Given the description of an element on the screen output the (x, y) to click on. 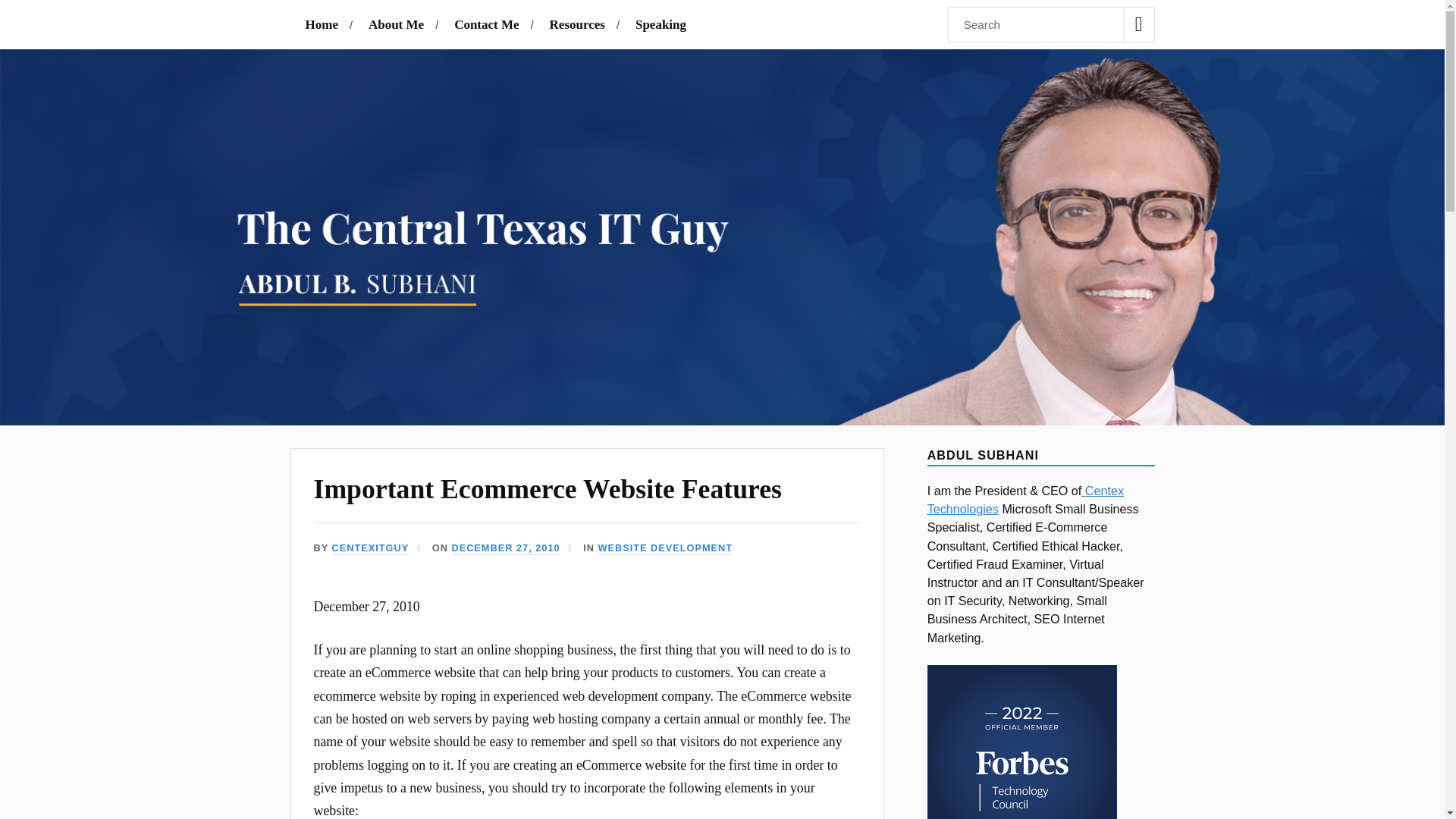
Contact Me (486, 24)
Important Ecommerce Website Features (547, 489)
WEBSITE DEVELOPMENT (664, 547)
Resources (577, 24)
DECEMBER 27, 2010 (505, 547)
Centex Technologies (1025, 499)
Speaking (659, 24)
CENTEXITGUY (370, 547)
About Me (395, 24)
Posts by centexitguy (370, 547)
